Given the description of an element on the screen output the (x, y) to click on. 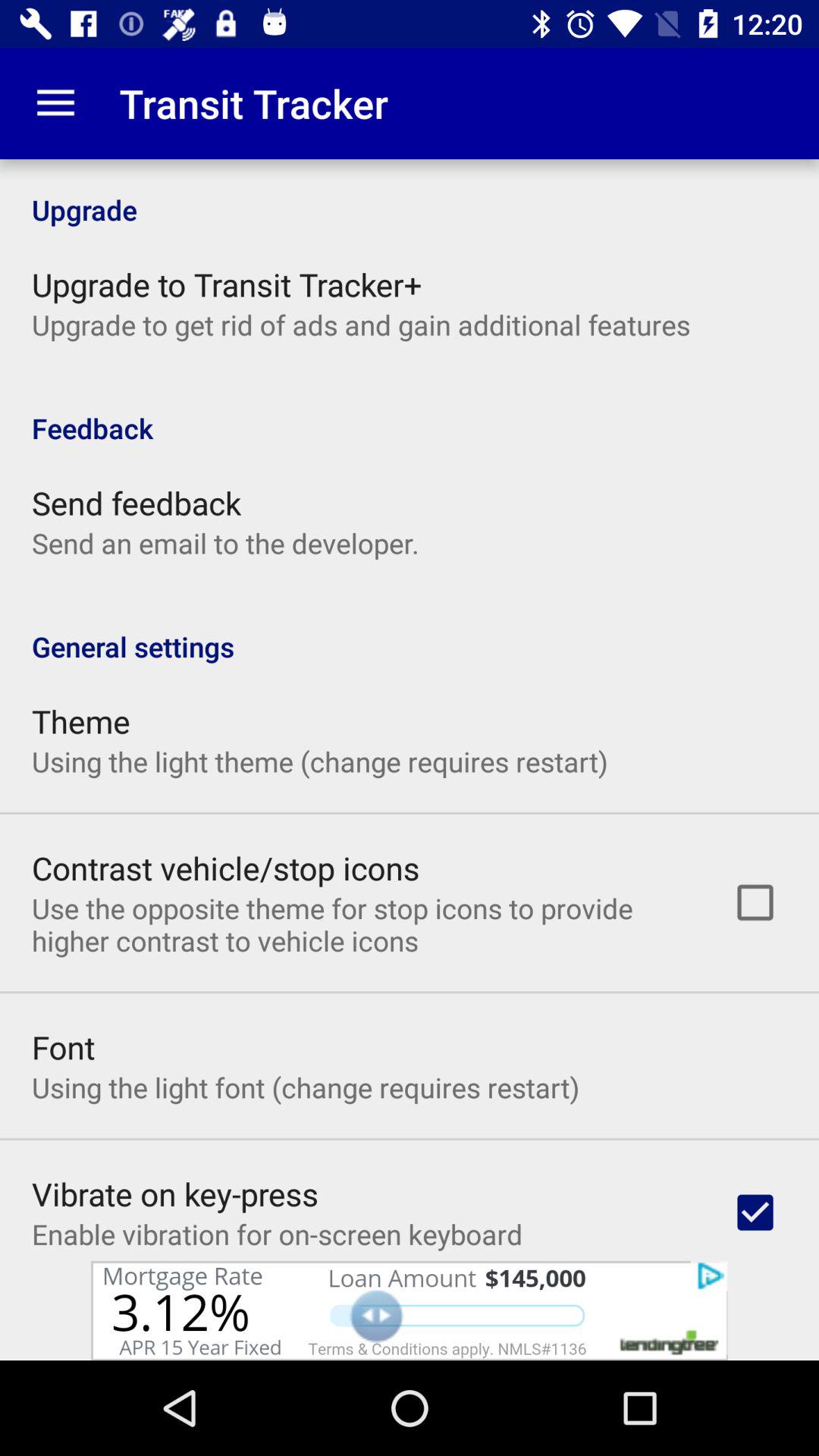
click to open advertisement (409, 1310)
